Given the description of an element on the screen output the (x, y) to click on. 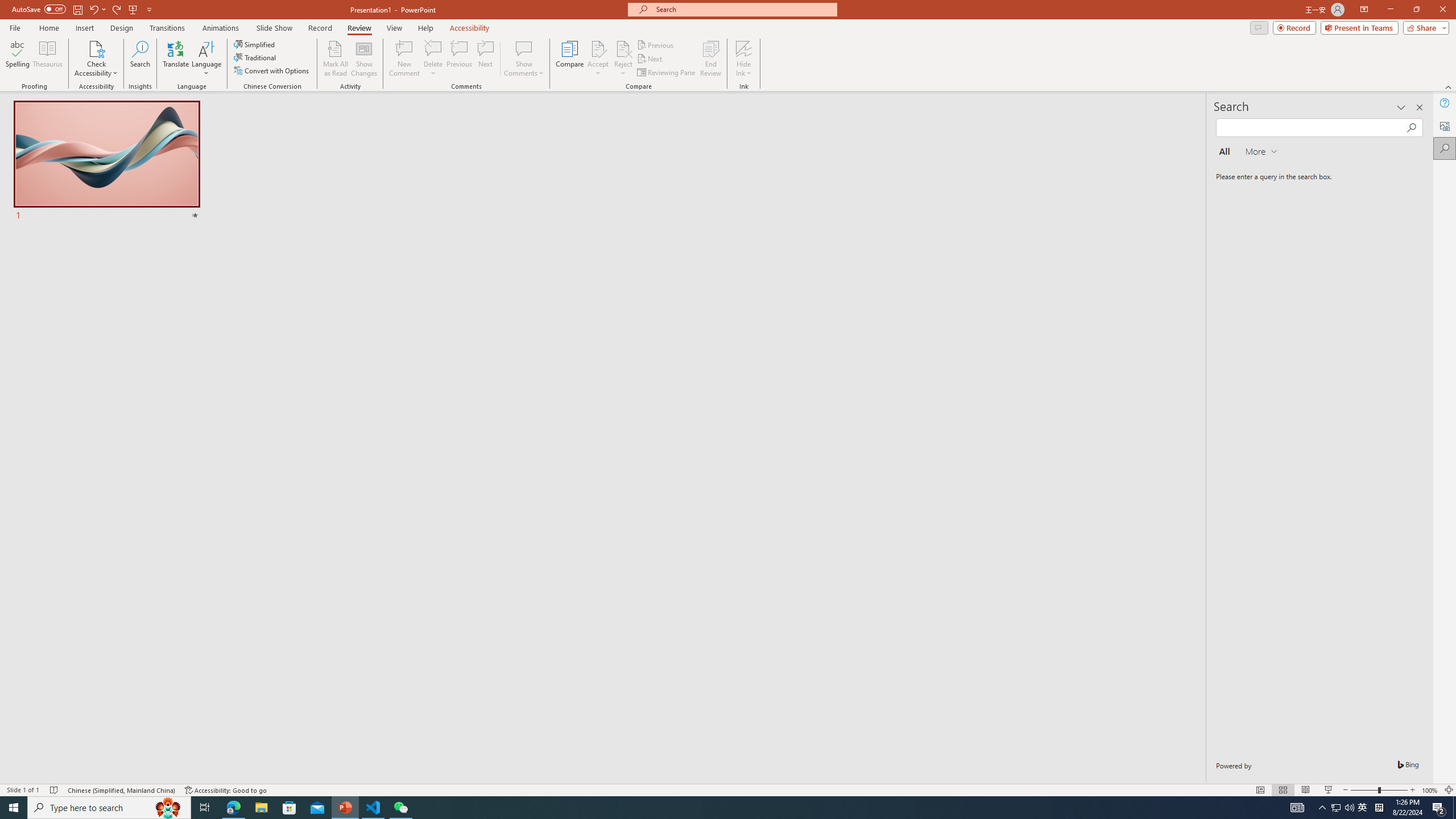
Microsoft search (742, 9)
Check Accessibility (95, 48)
Thesaurus... (47, 58)
Slide (106, 161)
Hide Ink (743, 58)
Search (140, 58)
Search (1444, 147)
